Given the description of an element on the screen output the (x, y) to click on. 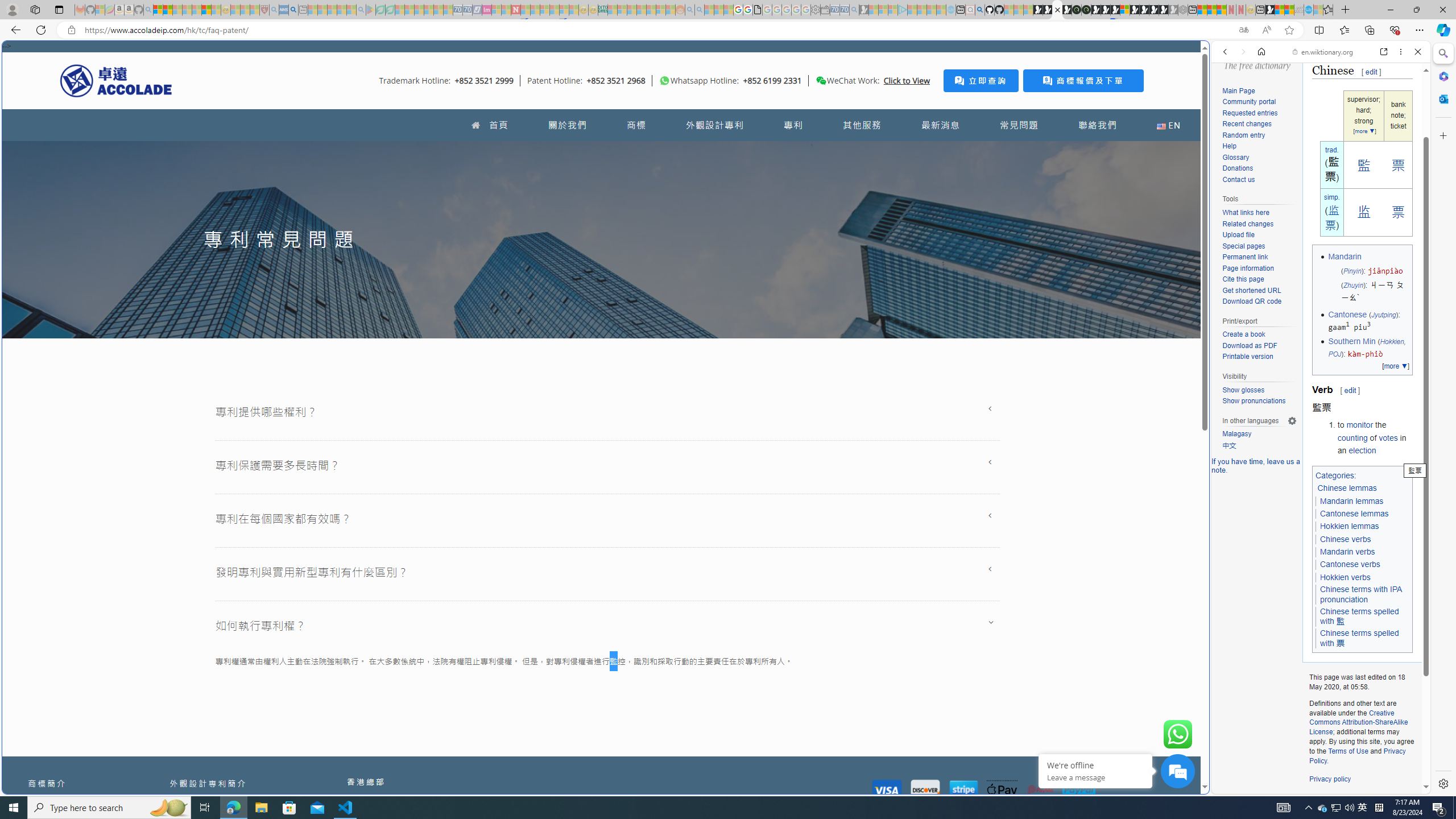
Requested entries (1259, 113)
Cite this page (1242, 279)
Cantonese (Jyutping): gaam1 piu3 (1368, 320)
